Given the description of an element on the screen output the (x, y) to click on. 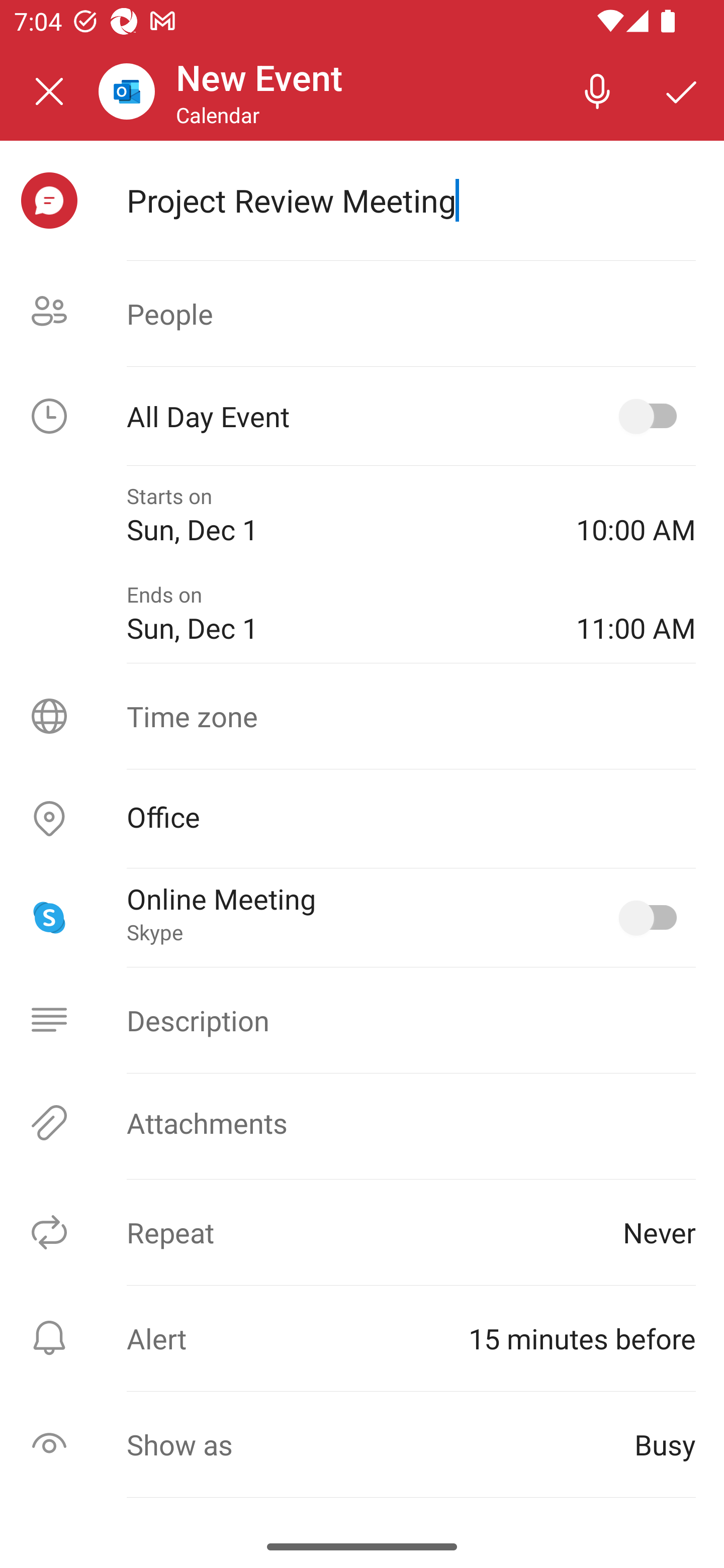
Close (49, 91)
Save (681, 90)
Project Review Meeting (410, 200)
review selected, event icon picker (48, 200)
People (362, 313)
All Day Event (362, 415)
Starts on Sun, Dec 1 (336, 514)
10:00 AM (635, 514)
Ends on Sun, Dec 1 (336, 613)
11:00 AM (635, 613)
Time zone (362, 715)
Location, Office Office (362, 818)
Online Meeting, Skype selected (651, 917)
Description (362, 1019)
Attachments (362, 1122)
Repeat Never (362, 1232)
Alert ⁨15 minutes before (362, 1337)
Show as Busy (362, 1444)
